Given the description of an element on the screen output the (x, y) to click on. 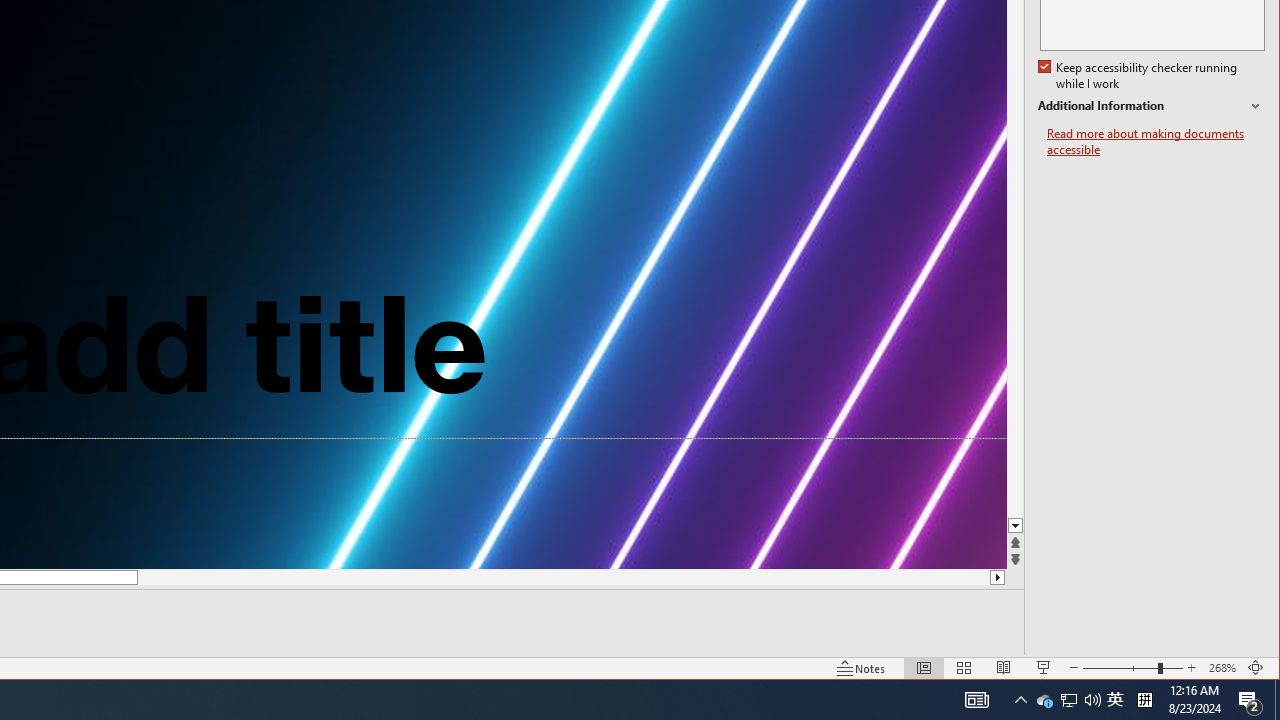
Show desktop (1277, 699)
AutomationID: 4105 (976, 699)
Read more about making documents accessible (1155, 142)
Tray Input Indicator - Chinese (Simplified, China) (1115, 699)
Zoom 268% (1144, 699)
Additional Information (1222, 668)
User Promoted Notification Area (1151, 106)
Keep accessibility checker running while I work (1068, 699)
